Given the description of an element on the screen output the (x, y) to click on. 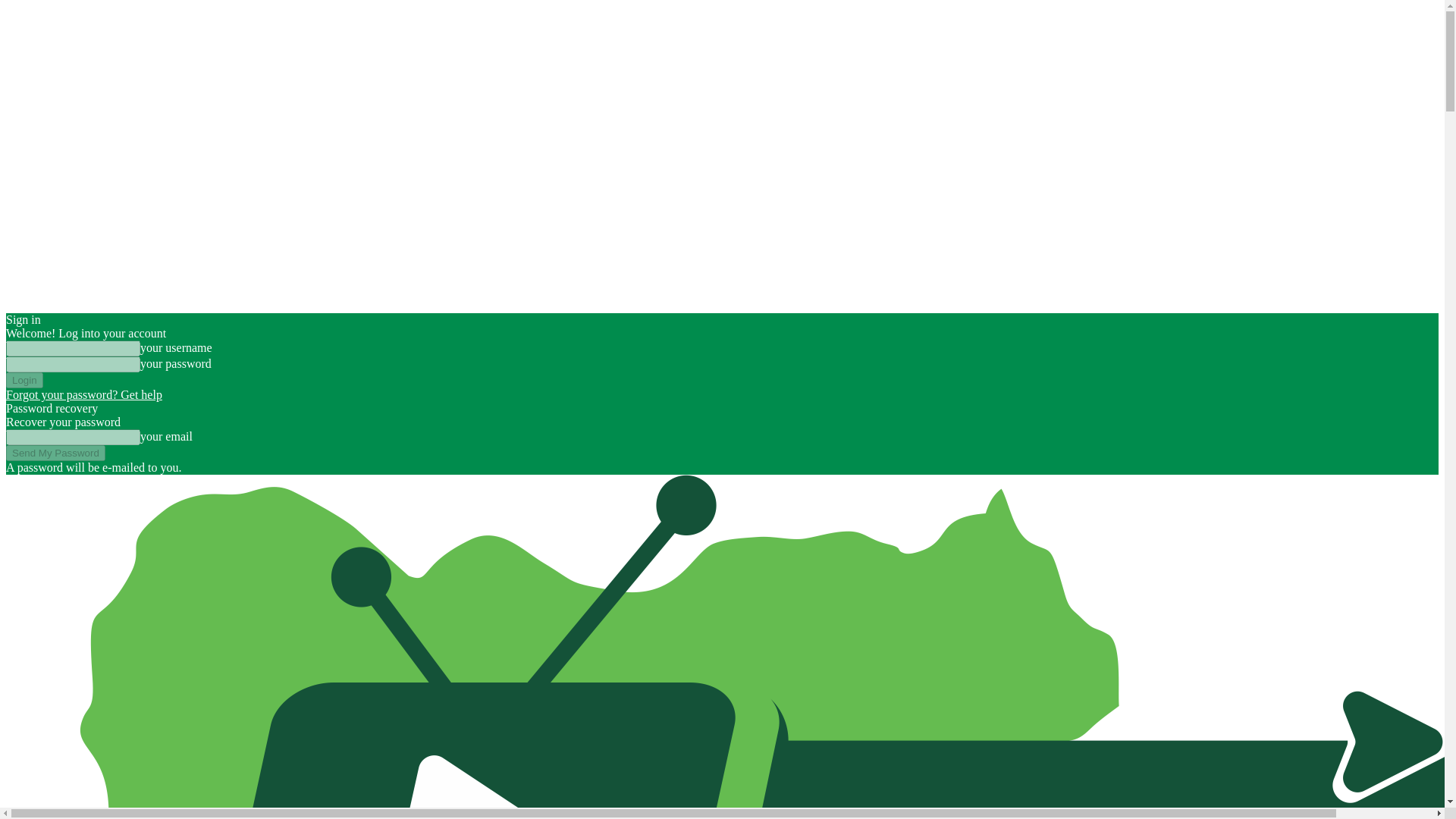
Send My Password (54, 453)
Forgot your password? Get help (83, 394)
Login (24, 380)
